Given the description of an element on the screen output the (x, y) to click on. 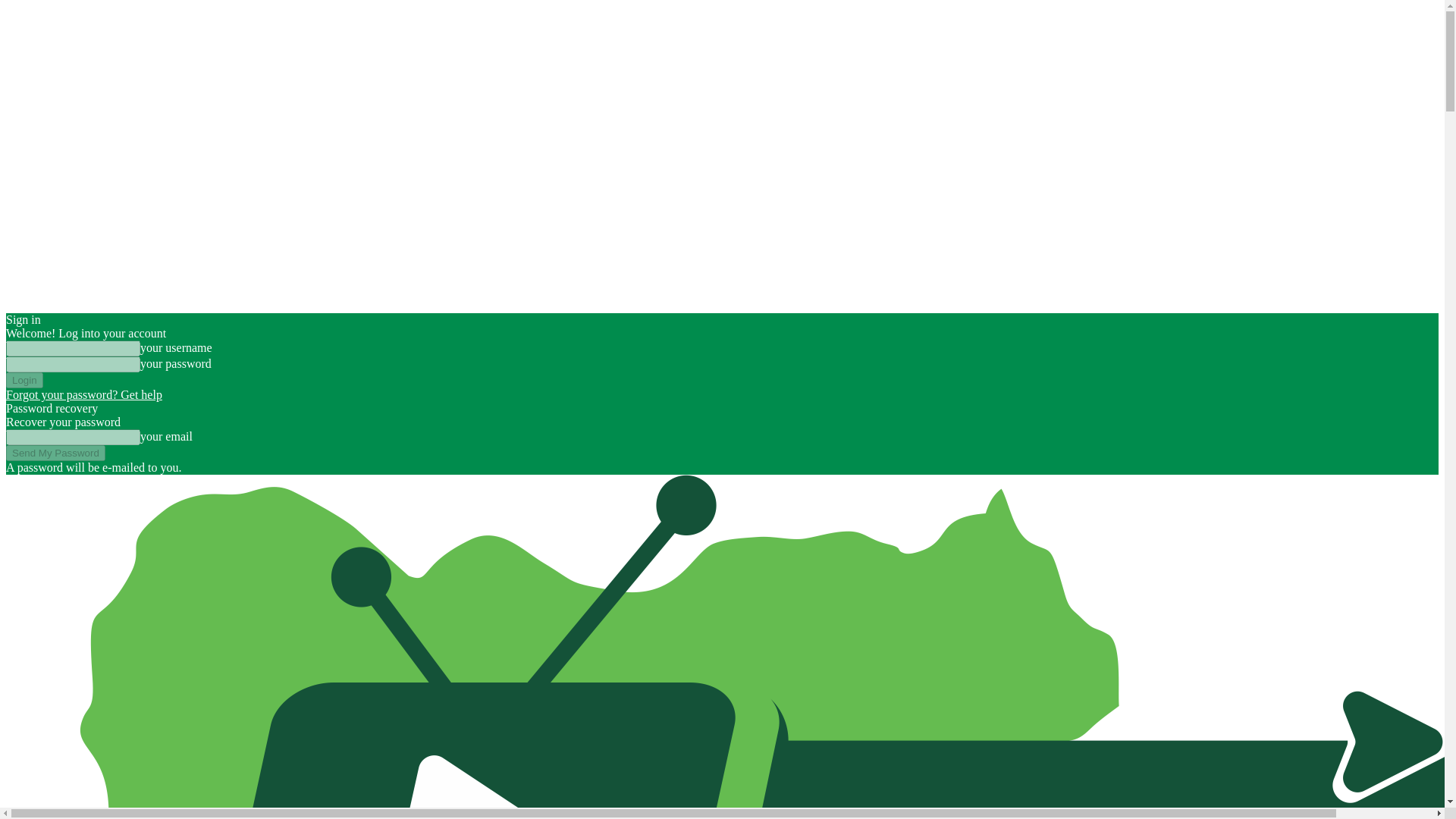
Send My Password (54, 453)
Forgot your password? Get help (83, 394)
Login (24, 380)
